Given the description of an element on the screen output the (x, y) to click on. 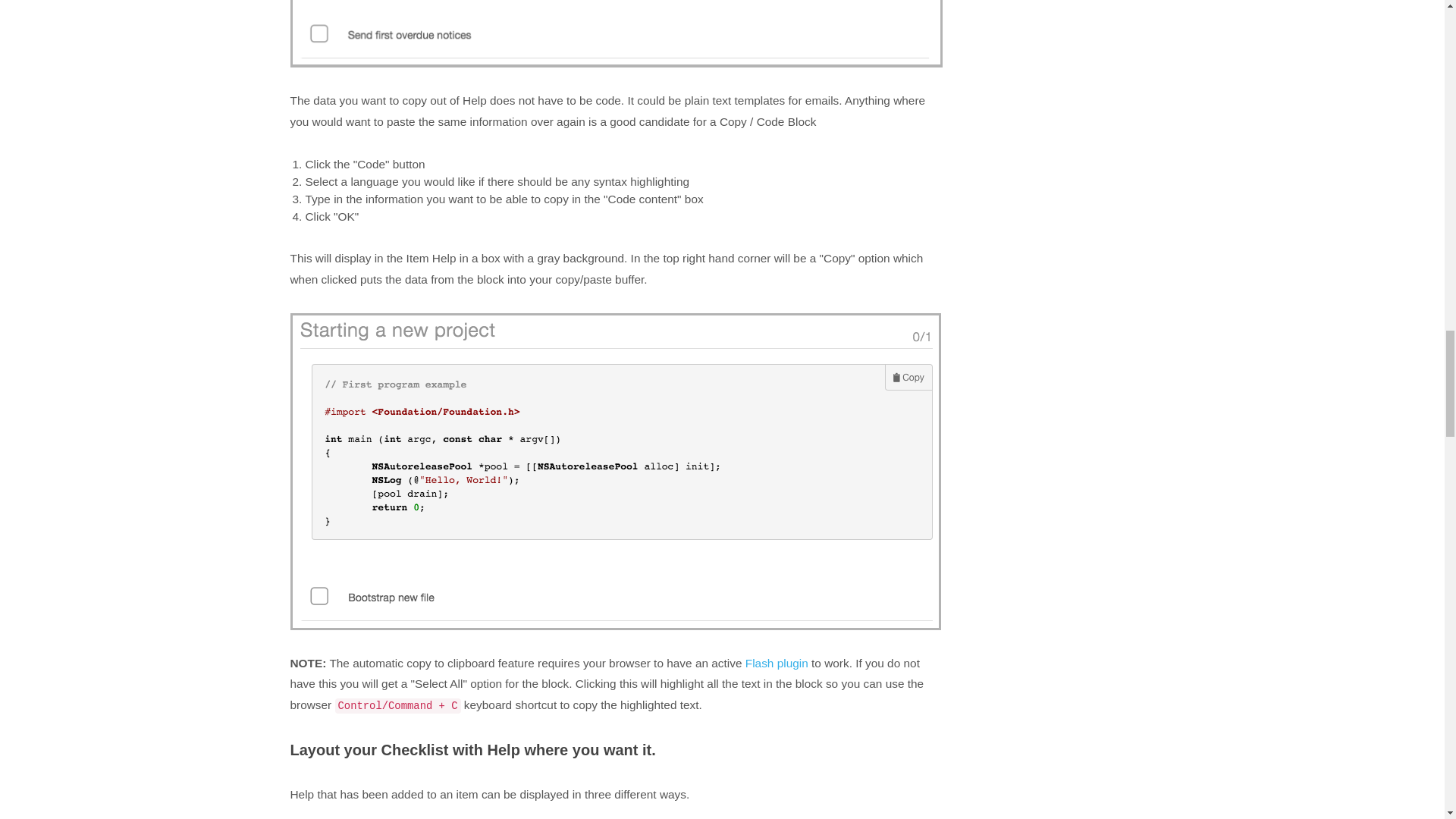
Flash plugin (776, 662)
